Given the description of an element on the screen output the (x, y) to click on. 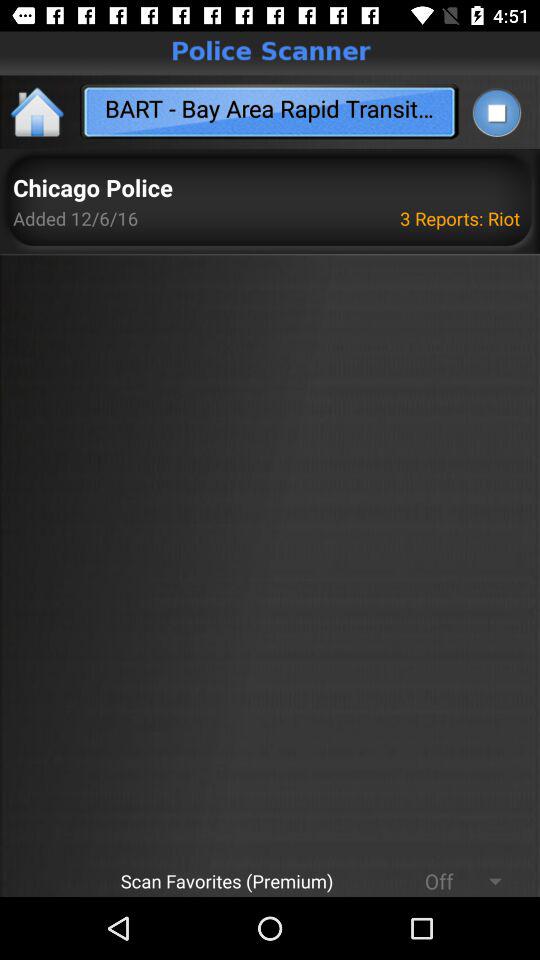
stop playing (496, 111)
